Given the description of an element on the screen output the (x, y) to click on. 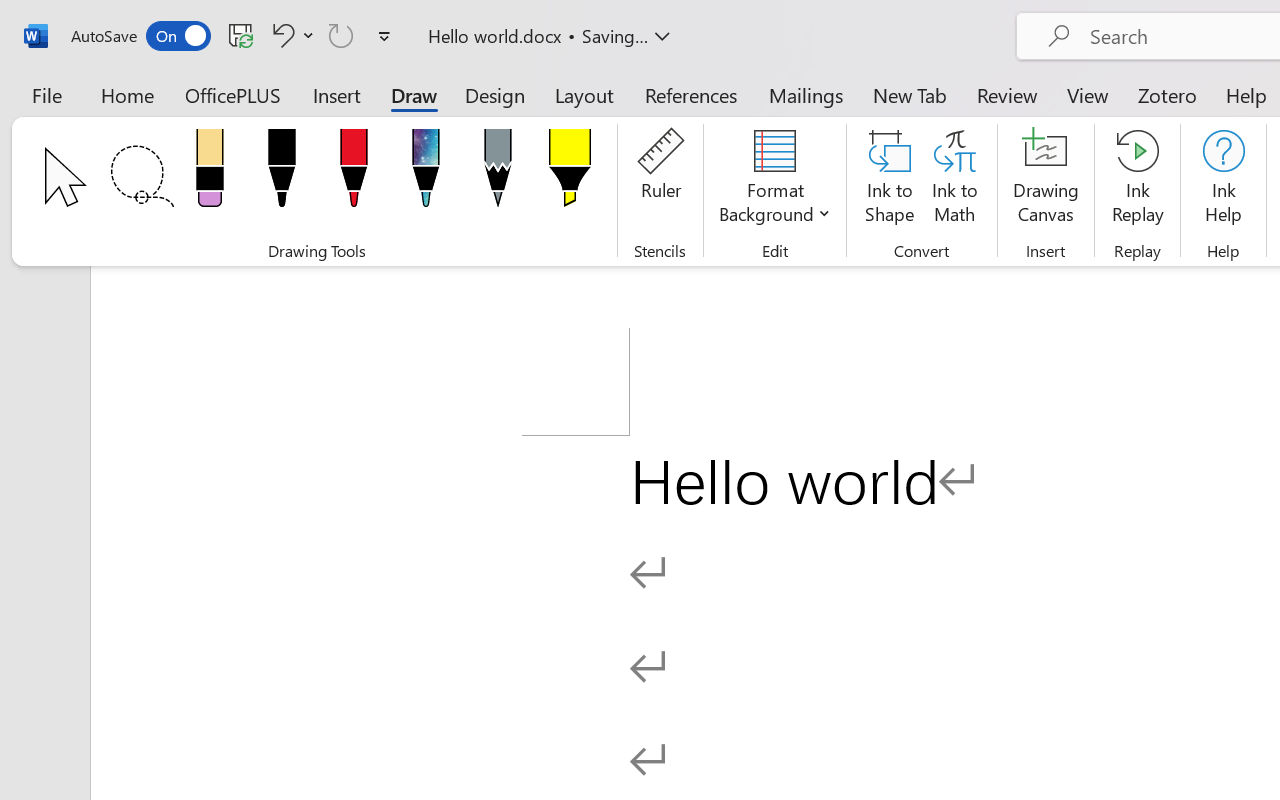
Draw (413, 94)
Save (241, 35)
OfficePLUS (233, 94)
Drawing Canvas (1045, 179)
View (1087, 94)
Review (1007, 94)
Ink Replay (1137, 179)
Ink to Math (954, 179)
Format Background (774, 179)
Ink Help (1223, 179)
File Tab (46, 94)
Can't Repeat (341, 35)
